Given the description of an element on the screen output the (x, y) to click on. 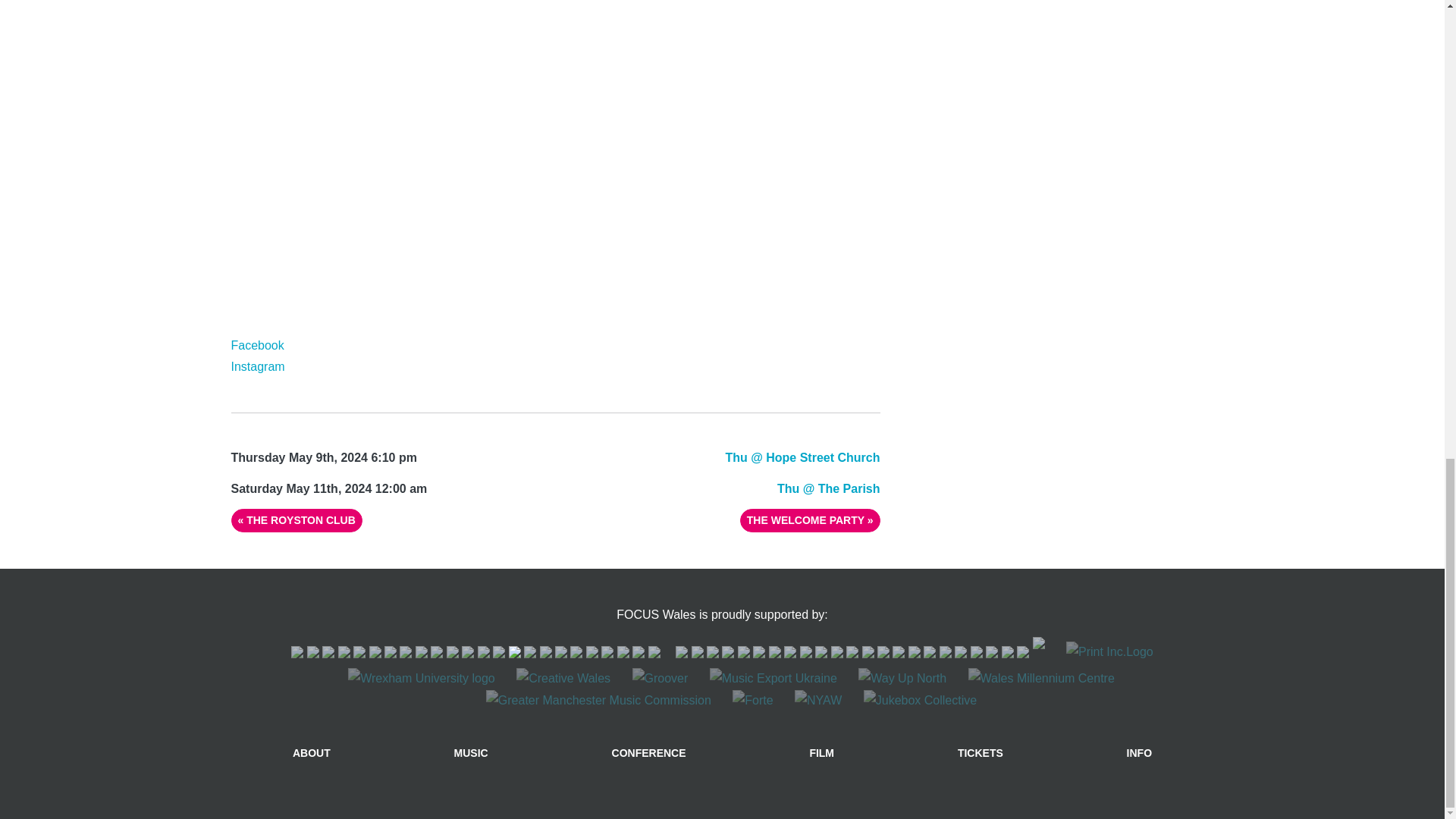
Instagram (256, 366)
Facebook (256, 345)
Industrial Standards - Web Design Wrexham - company logo (1038, 651)
